Given the description of an element on the screen output the (x, y) to click on. 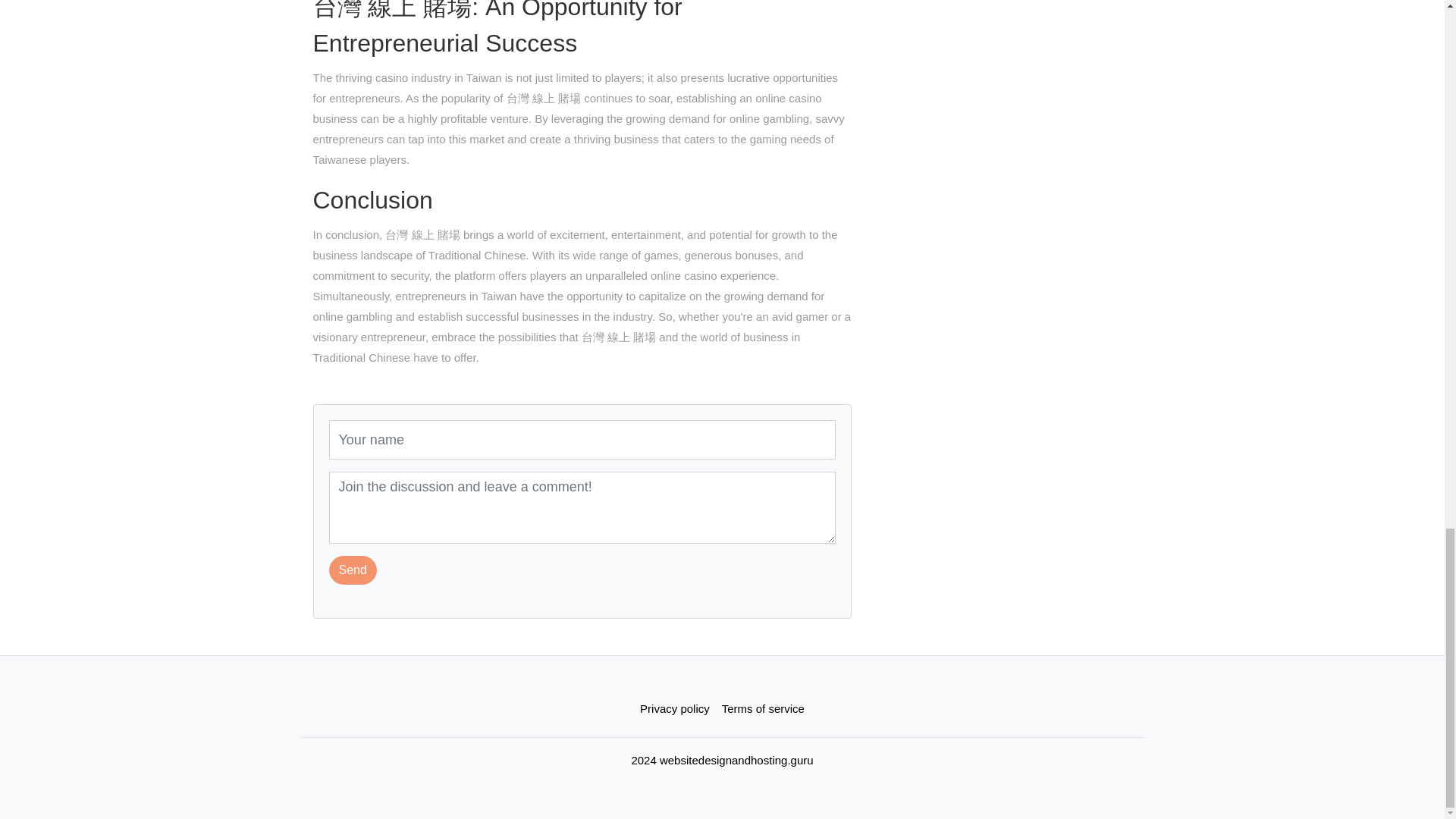
Send (353, 570)
Privacy policy (674, 708)
Terms of service (763, 708)
Send (353, 570)
